Given the description of an element on the screen output the (x, y) to click on. 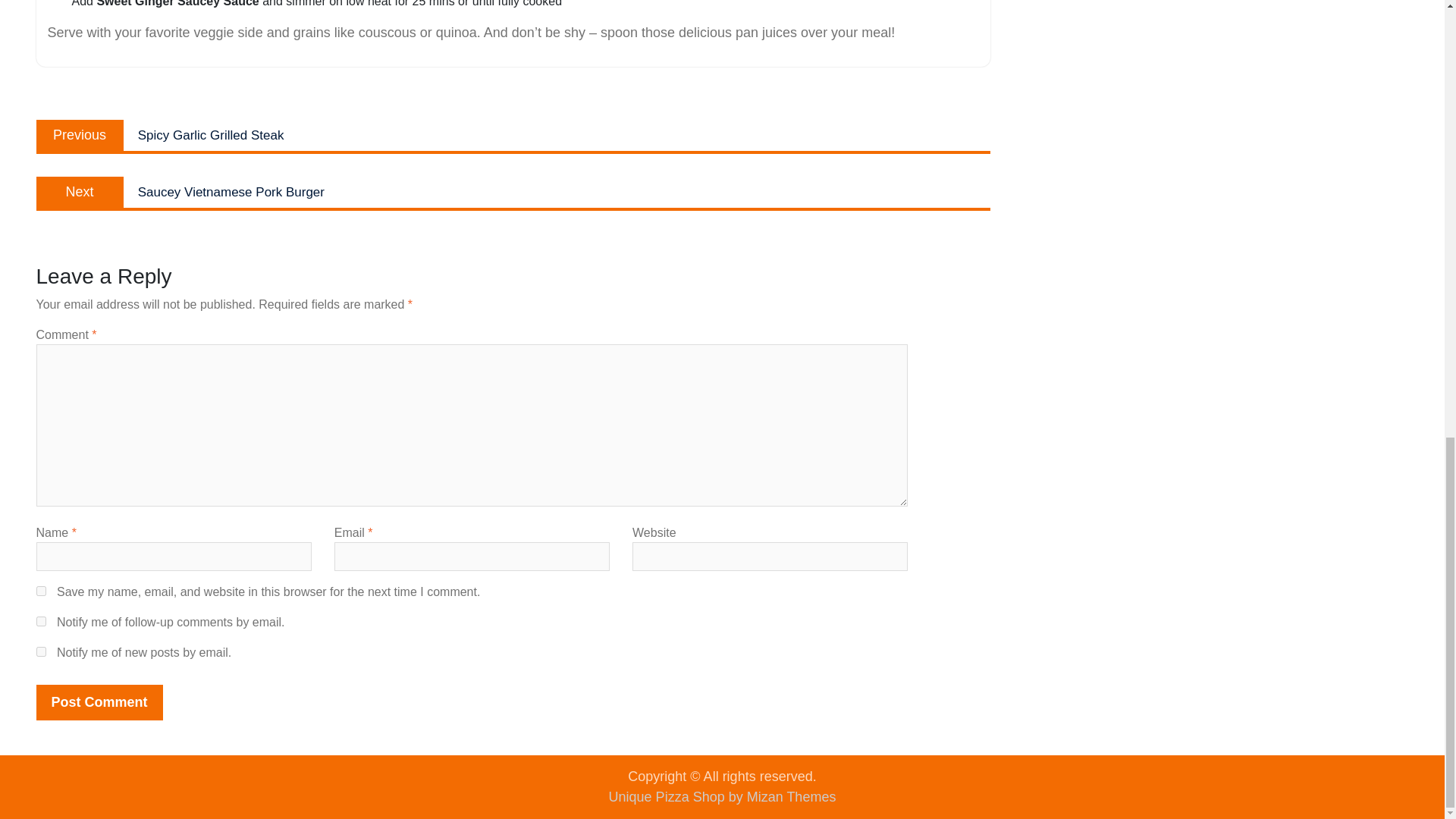
Unique Pizza Shop by Mizan Themes (513, 192)
Post Comment (721, 796)
subscribe (99, 702)
subscribe (41, 651)
yes (41, 621)
Post Comment (41, 591)
